Given the description of an element on the screen output the (x, y) to click on. 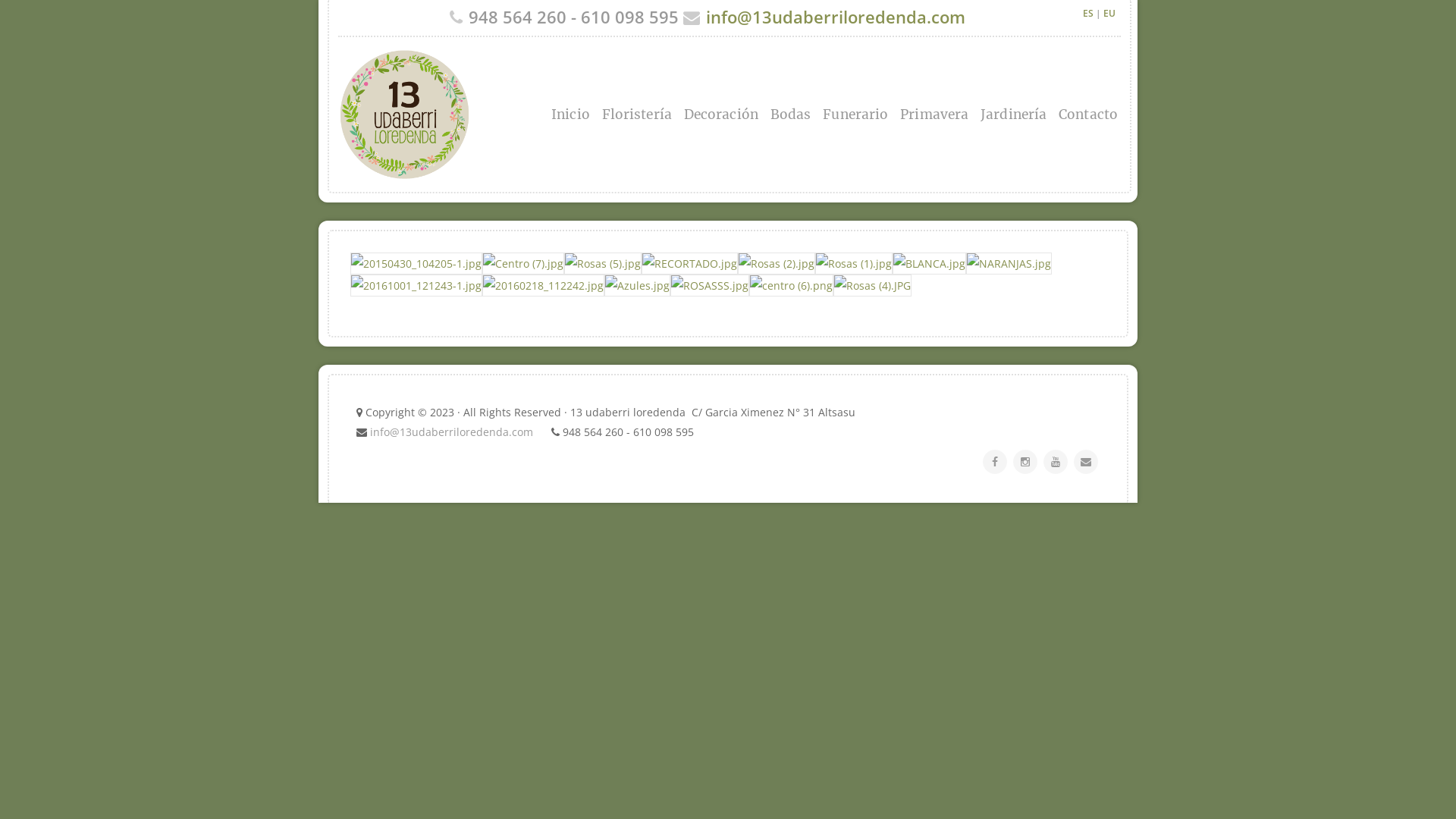
ES Element type: text (1087, 12)
13 udaberri loredenda Element type: text (484, 114)
Primavera Element type: text (933, 114)
info@13udaberriloredenda.com Element type: text (451, 431)
Rosas (4).JPG Element type: hover (872, 285)
EU Element type: text (1109, 12)
Funerario Element type: text (855, 114)
Rosas (5).jpg Element type: hover (602, 263)
Contacto Element type: text (1085, 114)
Centro (7).jpg Element type: hover (523, 263)
Rosas (1).jpg Element type: hover (853, 263)
Rosas (2).jpg Element type: hover (776, 263)
centro (6).png Element type: hover (791, 285)
info@13udaberriloredenda.com Element type: text (835, 17)
Inicio Element type: text (570, 114)
Bodas Element type: text (790, 114)
